Given the description of an element on the screen output the (x, y) to click on. 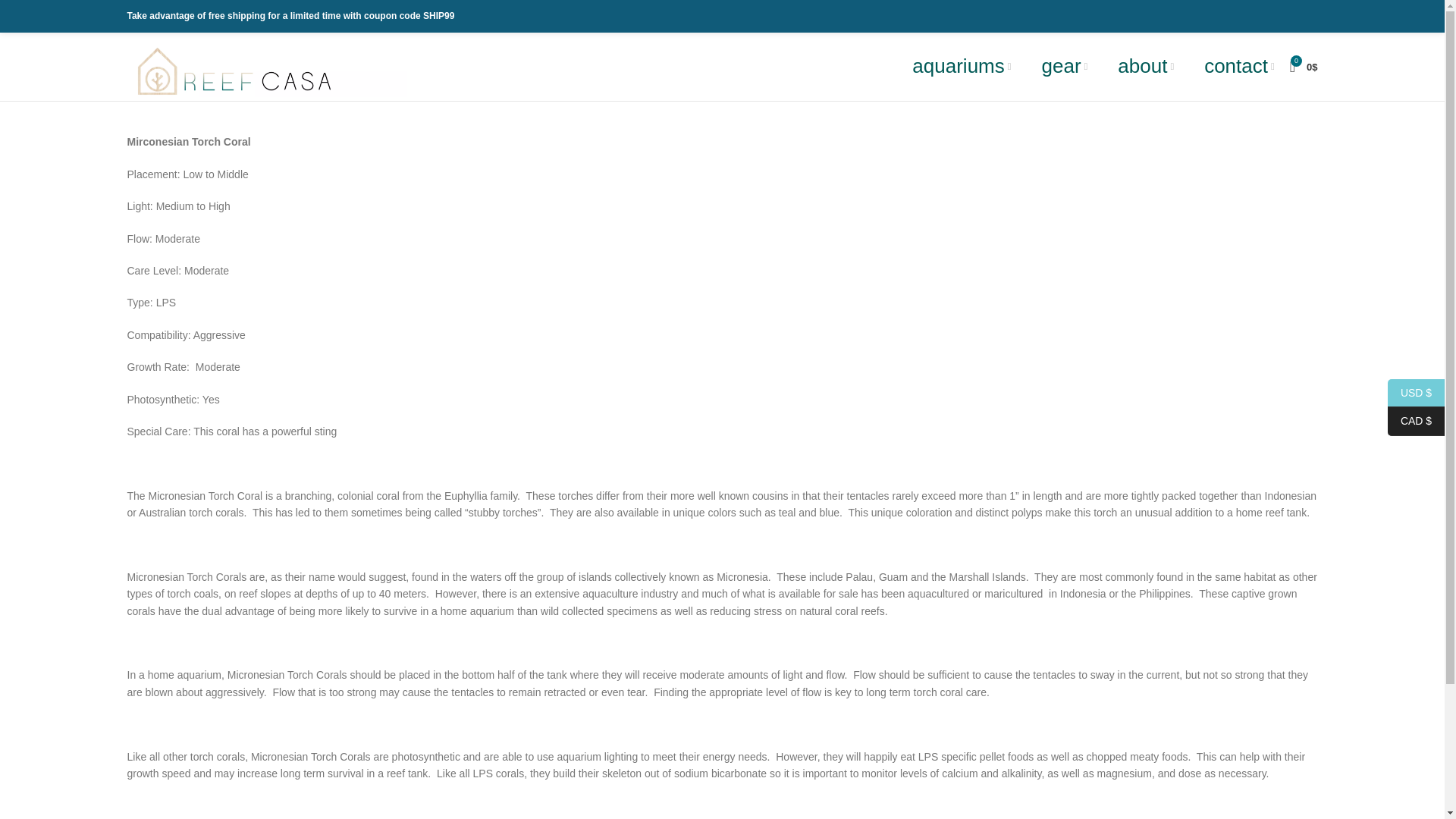
contact (1239, 66)
aquariums (961, 66)
Shopping cart (1303, 66)
gear (1064, 66)
about (1145, 66)
